Given the description of an element on the screen output the (x, y) to click on. 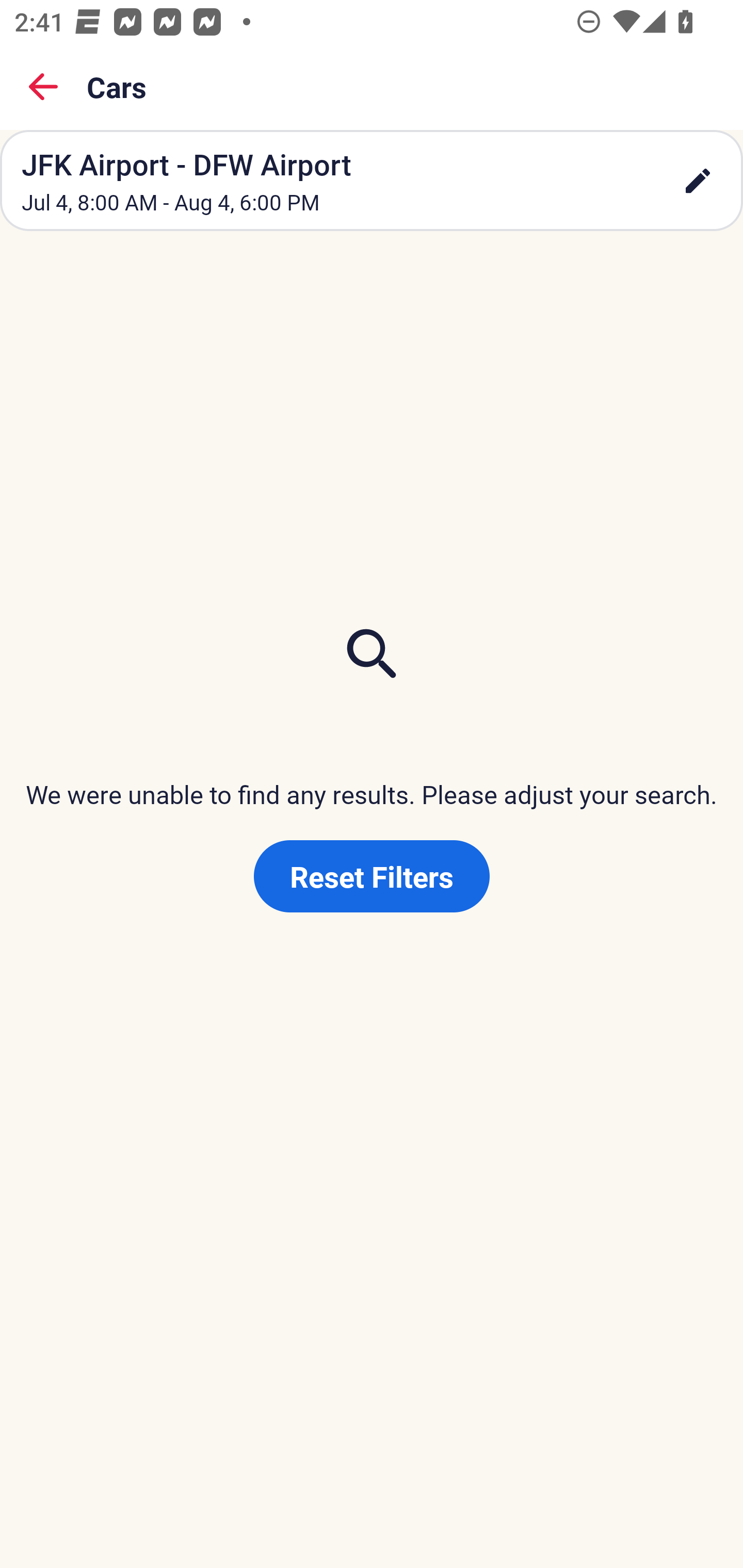
Back (43, 86)
edit (697, 180)
Reset Filters (371, 876)
